Given the description of an element on the screen output the (x, y) to click on. 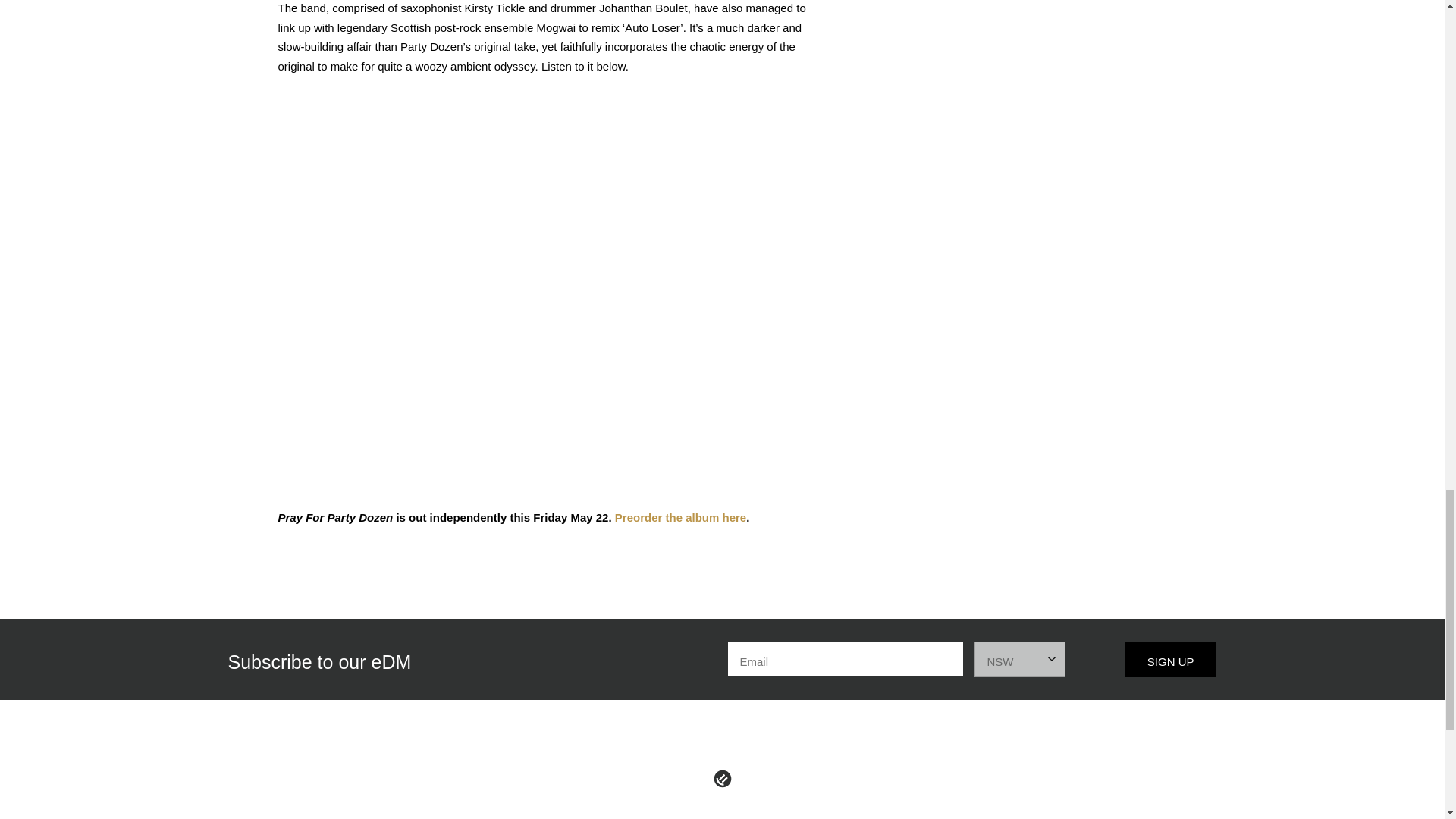
3rd party ad content (1052, 61)
SIGN UP (1170, 659)
Preorder the album here (679, 517)
